Given the description of an element on the screen output the (x, y) to click on. 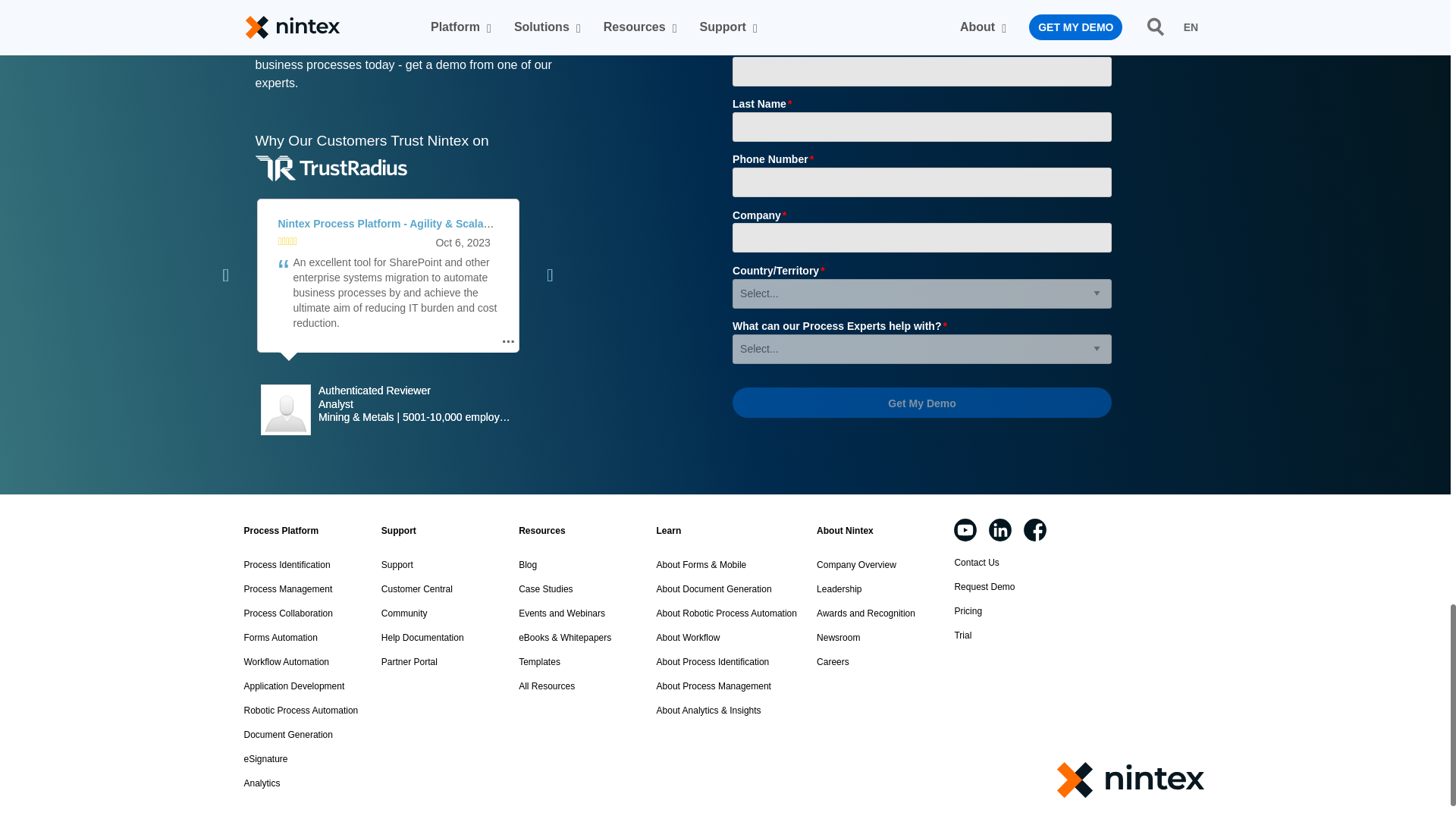
Analyst (416, 404)
Read full review on TrustRadius (393, 223)
10 out of 10 (287, 242)
